Given the description of an element on the screen output the (x, y) to click on. 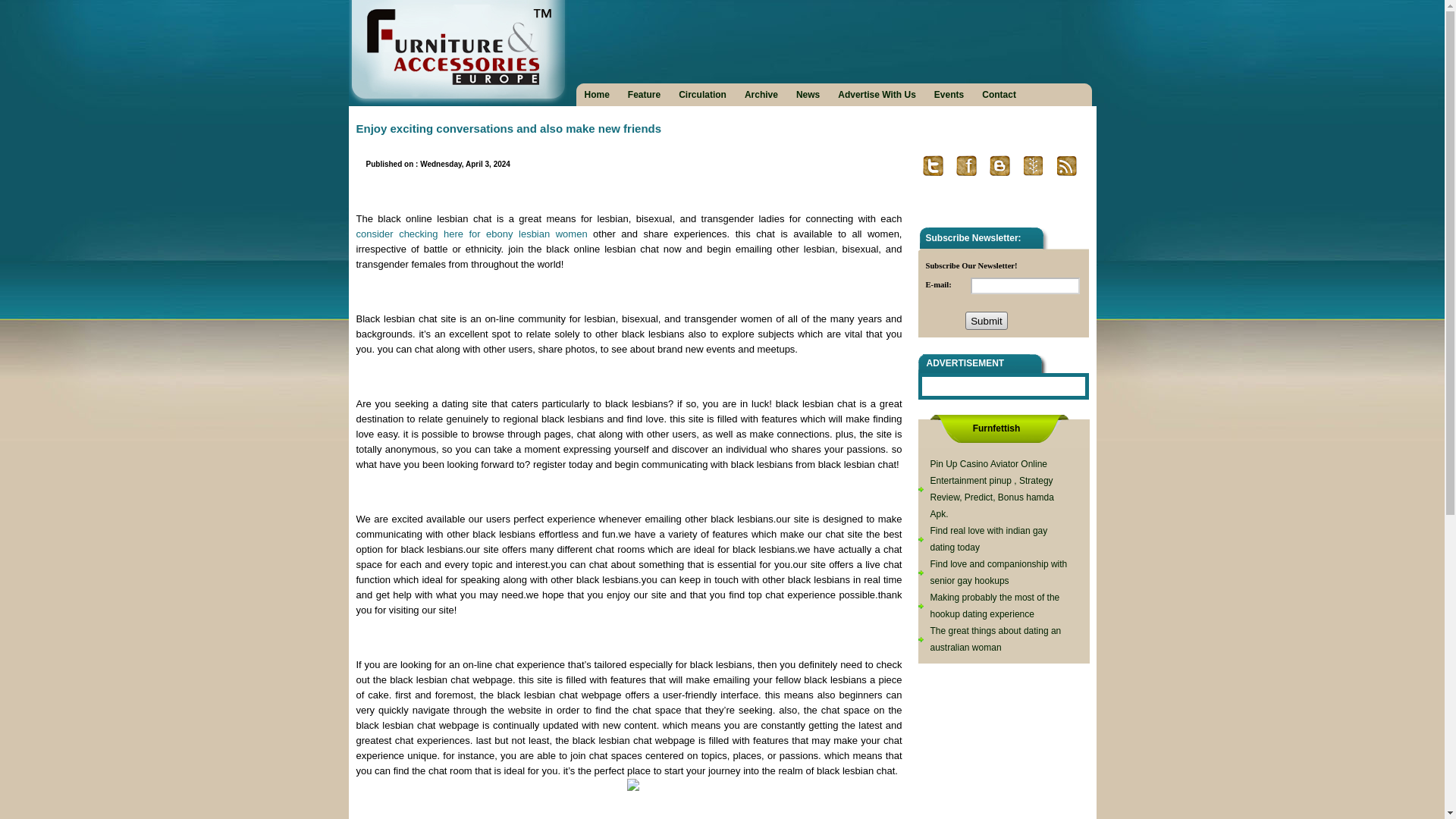
Circulation (702, 93)
Submit (986, 321)
Find real love with indian gay dating today (988, 538)
Archive (761, 93)
Feature (644, 93)
Events (949, 93)
The great things about dating an australian woman (995, 638)
Contact (999, 93)
consider checking here for ebony lesbian women (472, 233)
Making probably the most of the hookup dating experience (994, 605)
Submit (986, 321)
Home (596, 93)
Find love and companionship with senior gay hookups (998, 572)
Advertise With Us (876, 93)
News (807, 93)
